Given the description of an element on the screen output the (x, y) to click on. 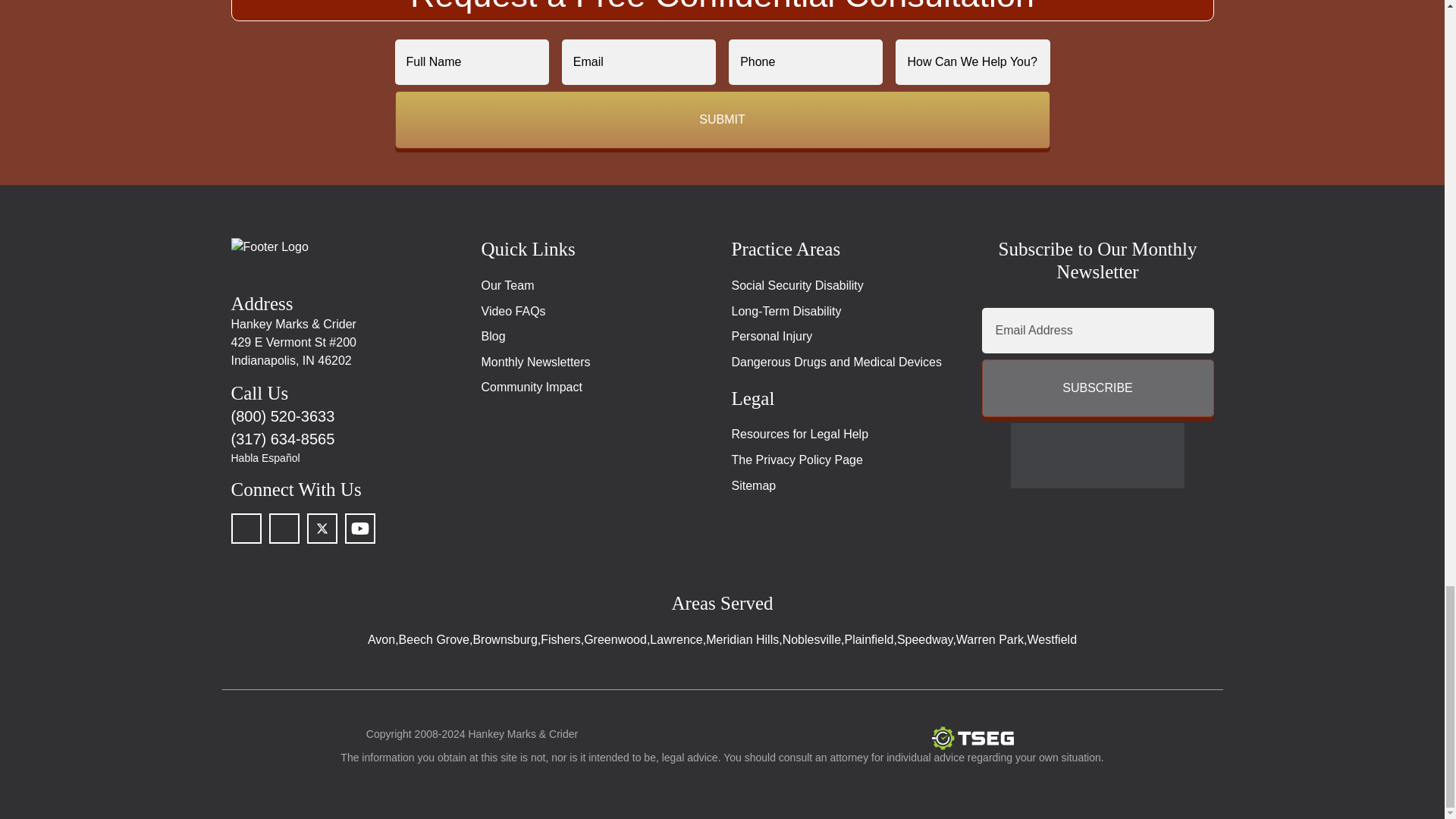
Subscribe (1096, 387)
Submit (721, 119)
Spanish (346, 458)
